Given the description of an element on the screen output the (x, y) to click on. 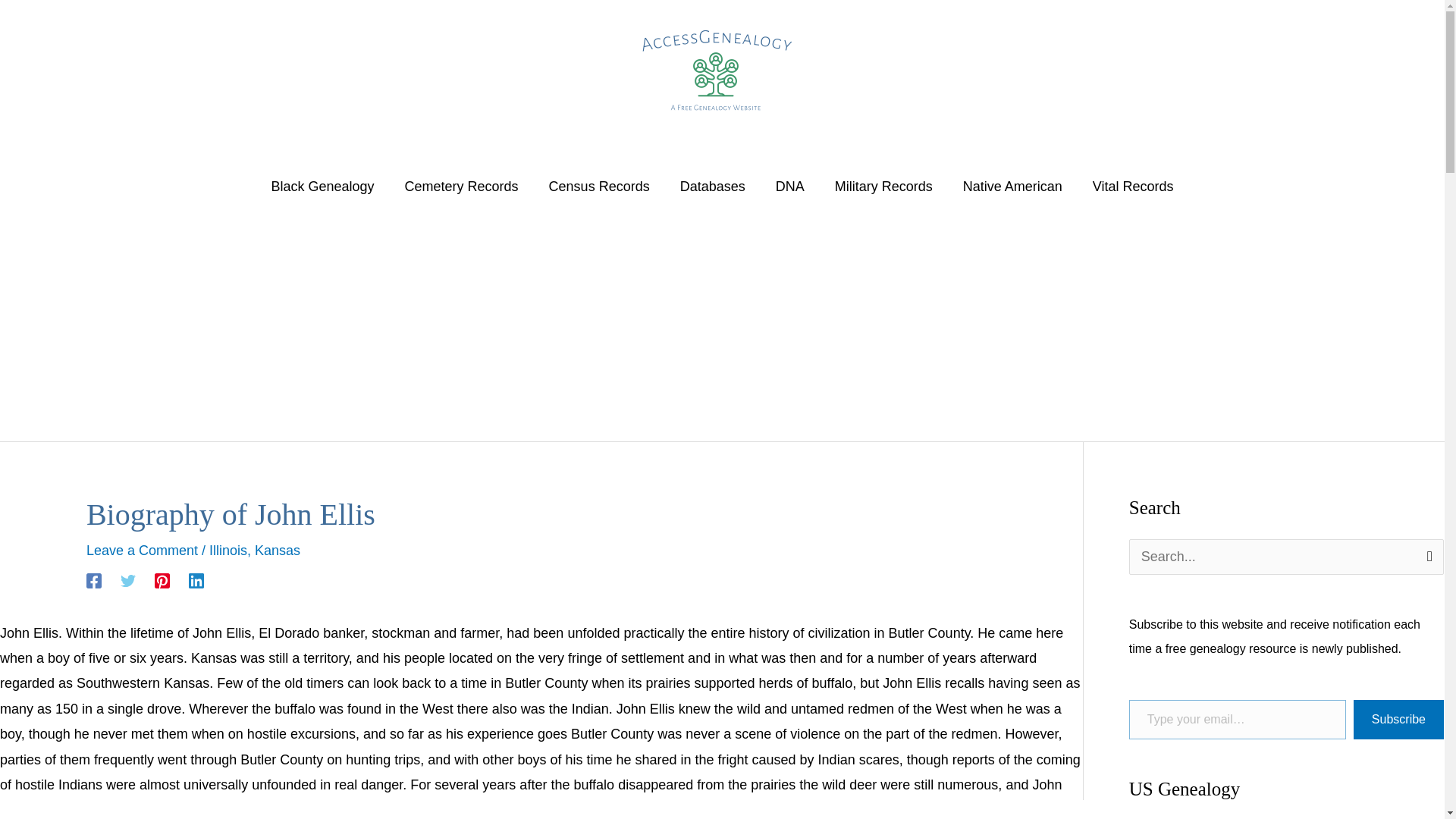
Native American History and Genealogy (1012, 185)
Illinois (228, 549)
DNA (789, 185)
Native American (1012, 185)
Black Genealogy (322, 185)
Census Records (599, 185)
Databases (712, 185)
Vital Records (1133, 185)
Leave a Comment (141, 549)
United States Military Records (883, 185)
United States Cemetery Records (462, 185)
Please fill in this field. (1237, 720)
United States Vital Records (1133, 185)
DNA (789, 185)
